Given the description of an element on the screen output the (x, y) to click on. 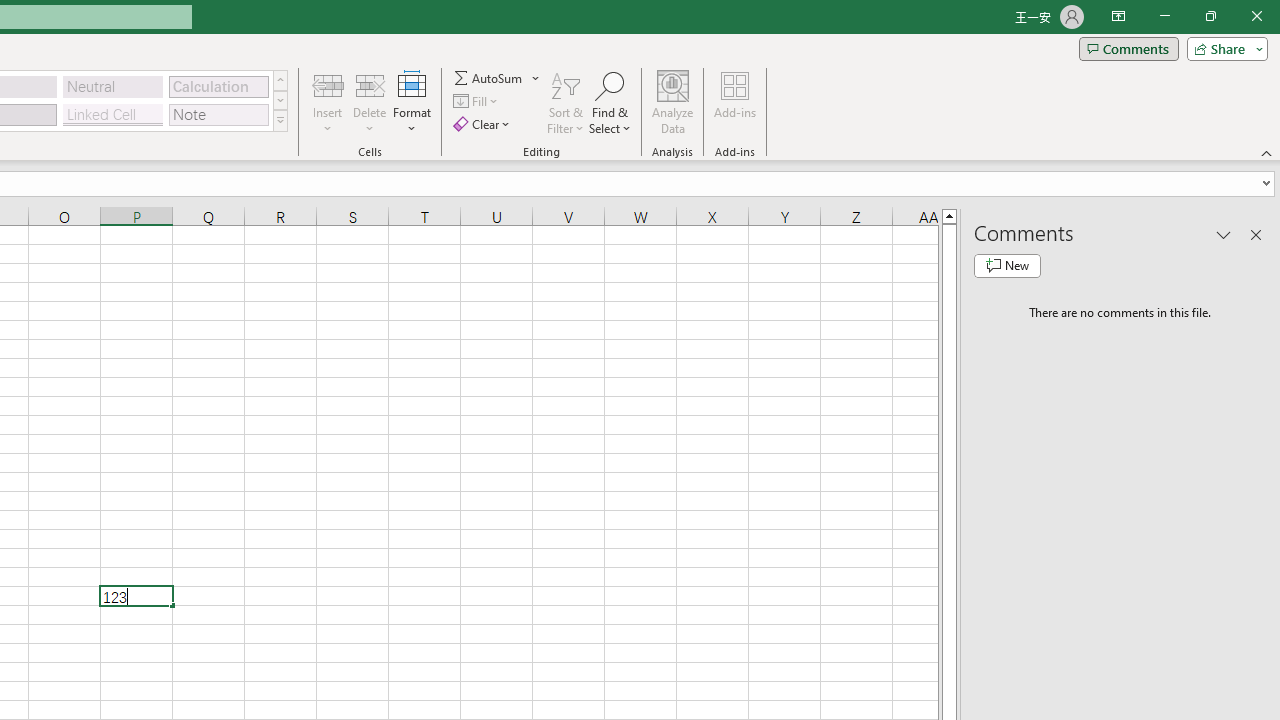
Class: NetUIImage (280, 120)
Collapse the Ribbon (1267, 152)
Sort & Filter (566, 102)
Neutral (113, 86)
